Given the description of an element on the screen output the (x, y) to click on. 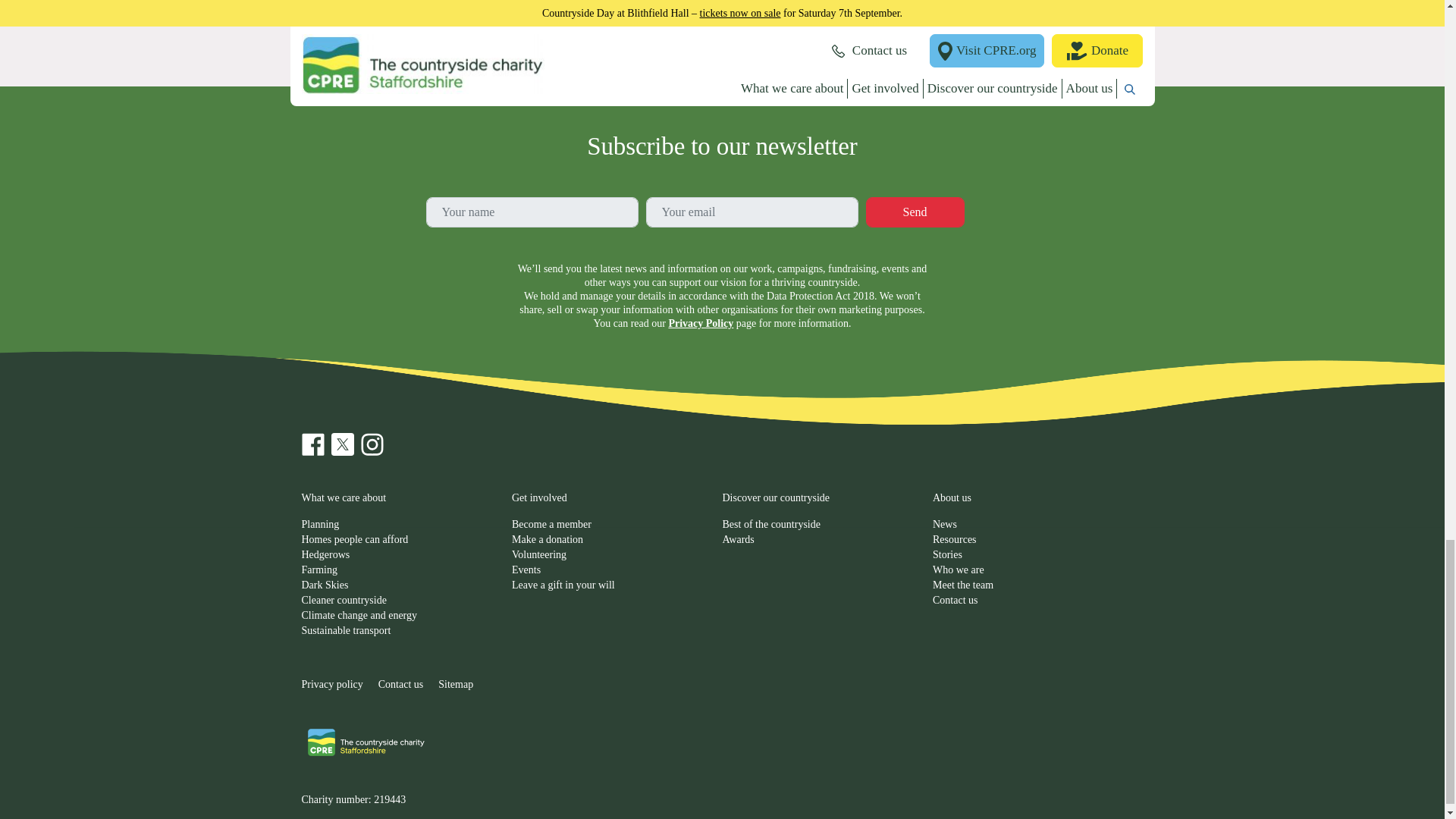
Star Count 2022: a bright outlook for a darker future? (830, 16)
Star Count 2021: explore what we learned (1045, 16)
Star Count 2023 (613, 16)
Send (914, 212)
